Given the description of an element on the screen output the (x, y) to click on. 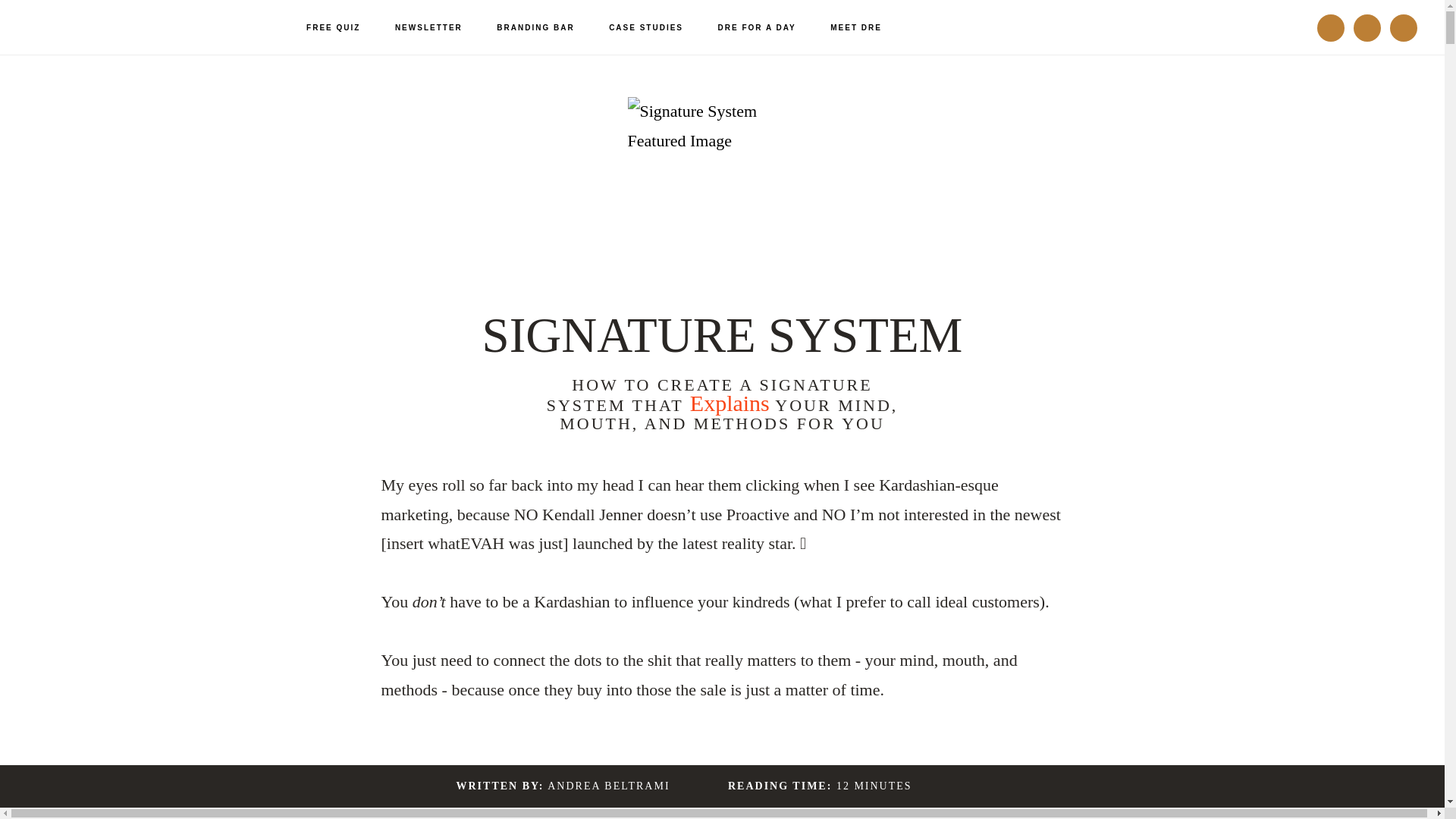
BRANDING BAR (535, 27)
DRE FOR A DAY (756, 27)
NEWSLETTER (428, 27)
Signature System Featured Image (721, 191)
MEET DRE (855, 27)
CASE STUDIES (646, 27)
FREE QUIZ (333, 27)
